Given the description of an element on the screen output the (x, y) to click on. 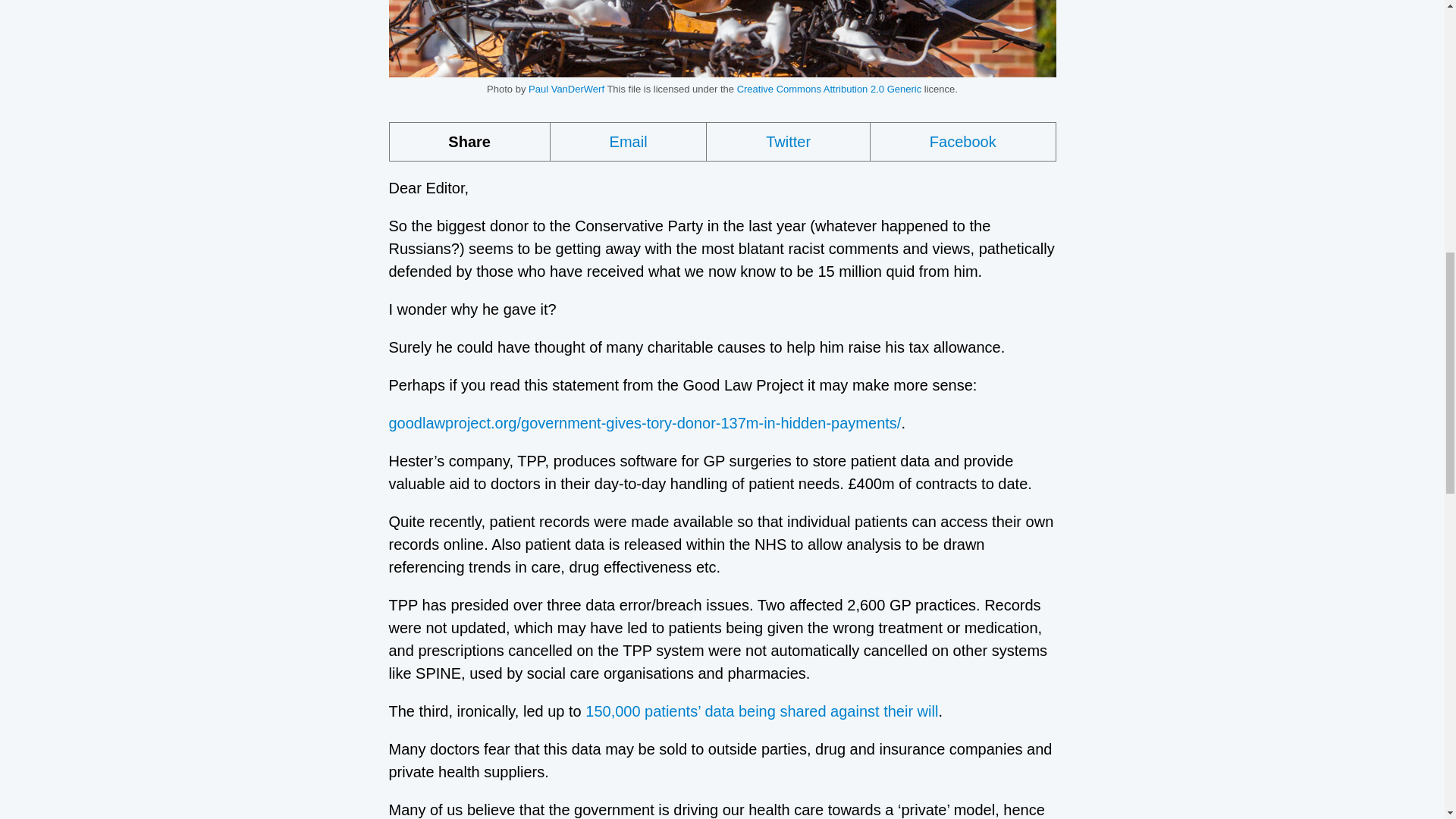
Paul VanDerWerf (566, 89)
Creative Commons (778, 89)
Email (628, 141)
Attribution 2.0 Generic (872, 89)
Twitter (788, 141)
